Given the description of an element on the screen output the (x, y) to click on. 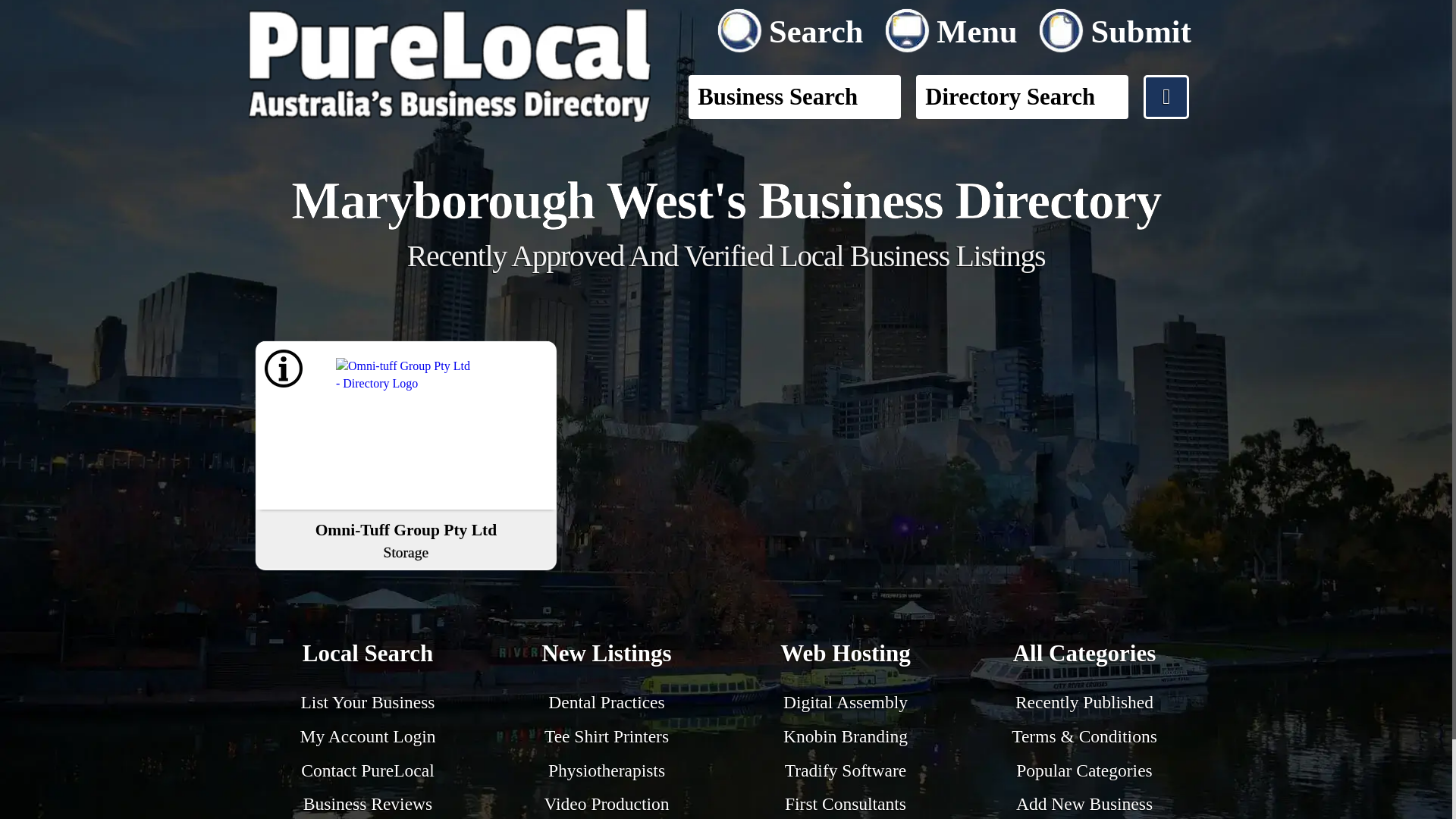
Video Production (605, 803)
My Account Login (367, 736)
Tee Shirt Printers (606, 736)
Web Hosting (845, 655)
First Consultants (844, 803)
New Listings (606, 655)
List Your Business (368, 701)
Submit (1114, 27)
Popular Categories (1083, 770)
Knobin Branding (845, 736)
Add New Business (406, 538)
Local Search (1084, 803)
Tradify Software (367, 655)
Contact PureLocal (844, 770)
